Given the description of an element on the screen output the (x, y) to click on. 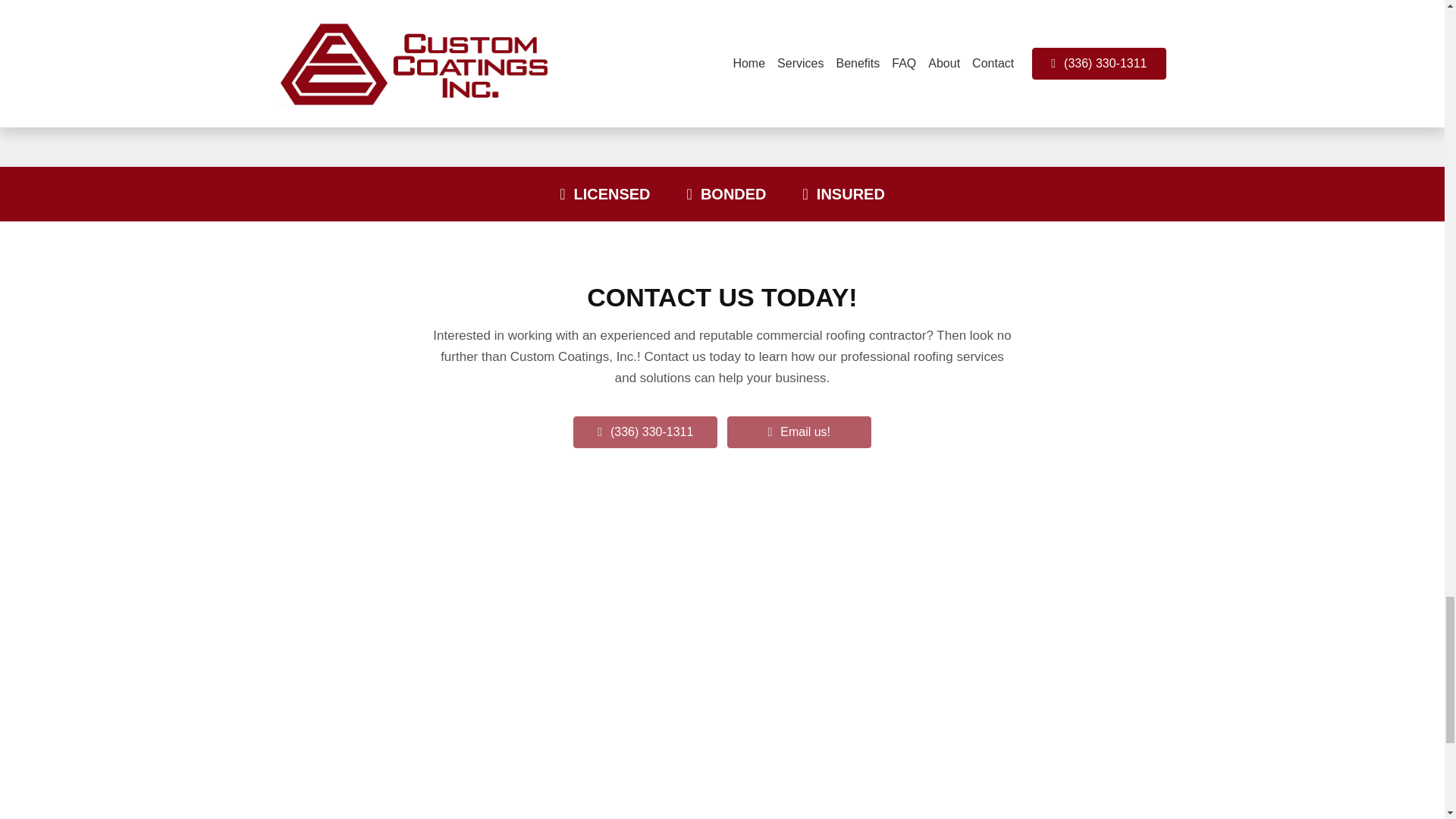
Email us! (804, 431)
Email us! (798, 431)
